Given the description of an element on the screen output the (x, y) to click on. 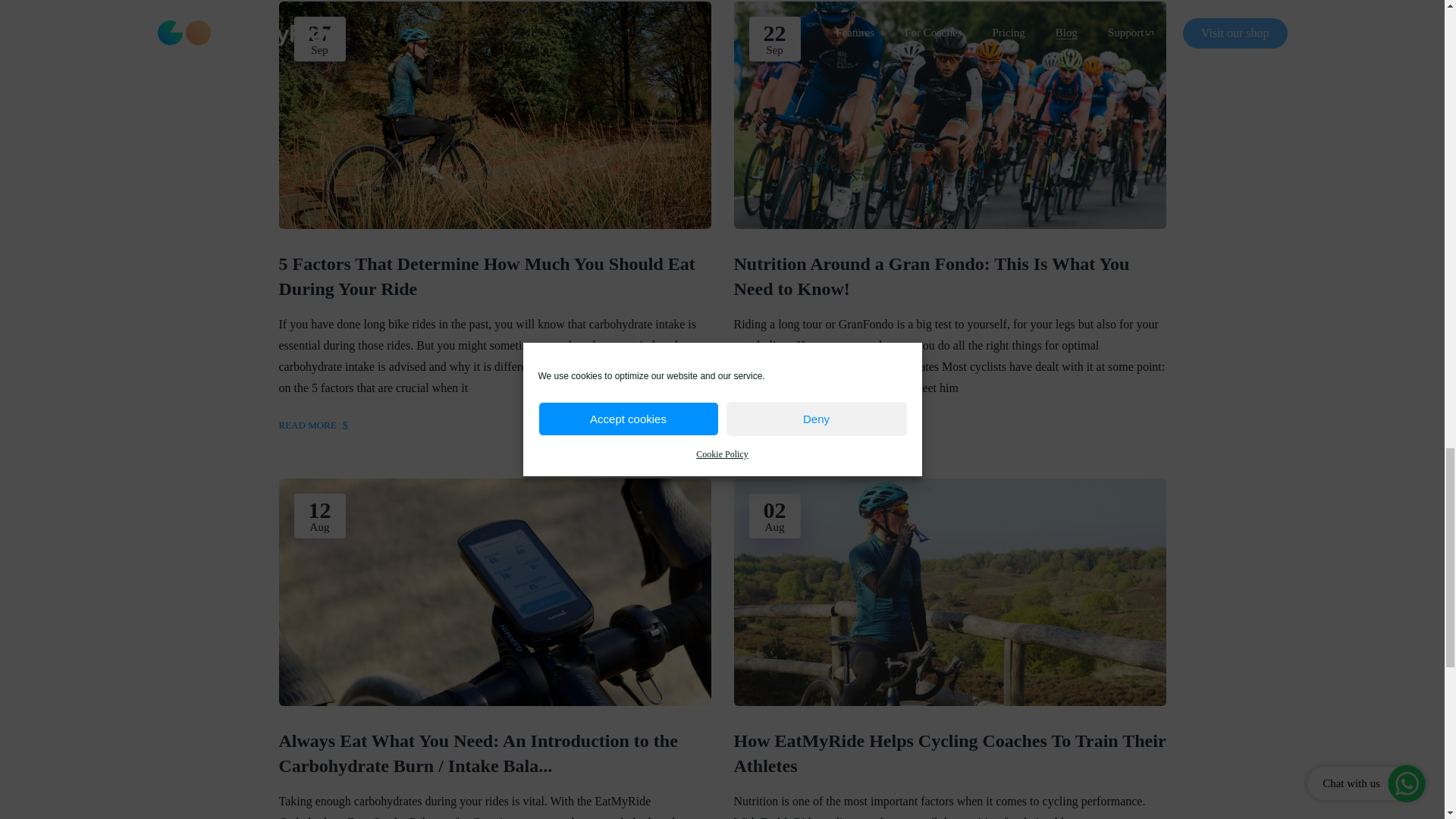
How EatMyRide Helps Cycling Coaches To Train Their Athletes (949, 753)
